Given the description of an element on the screen output the (x, y) to click on. 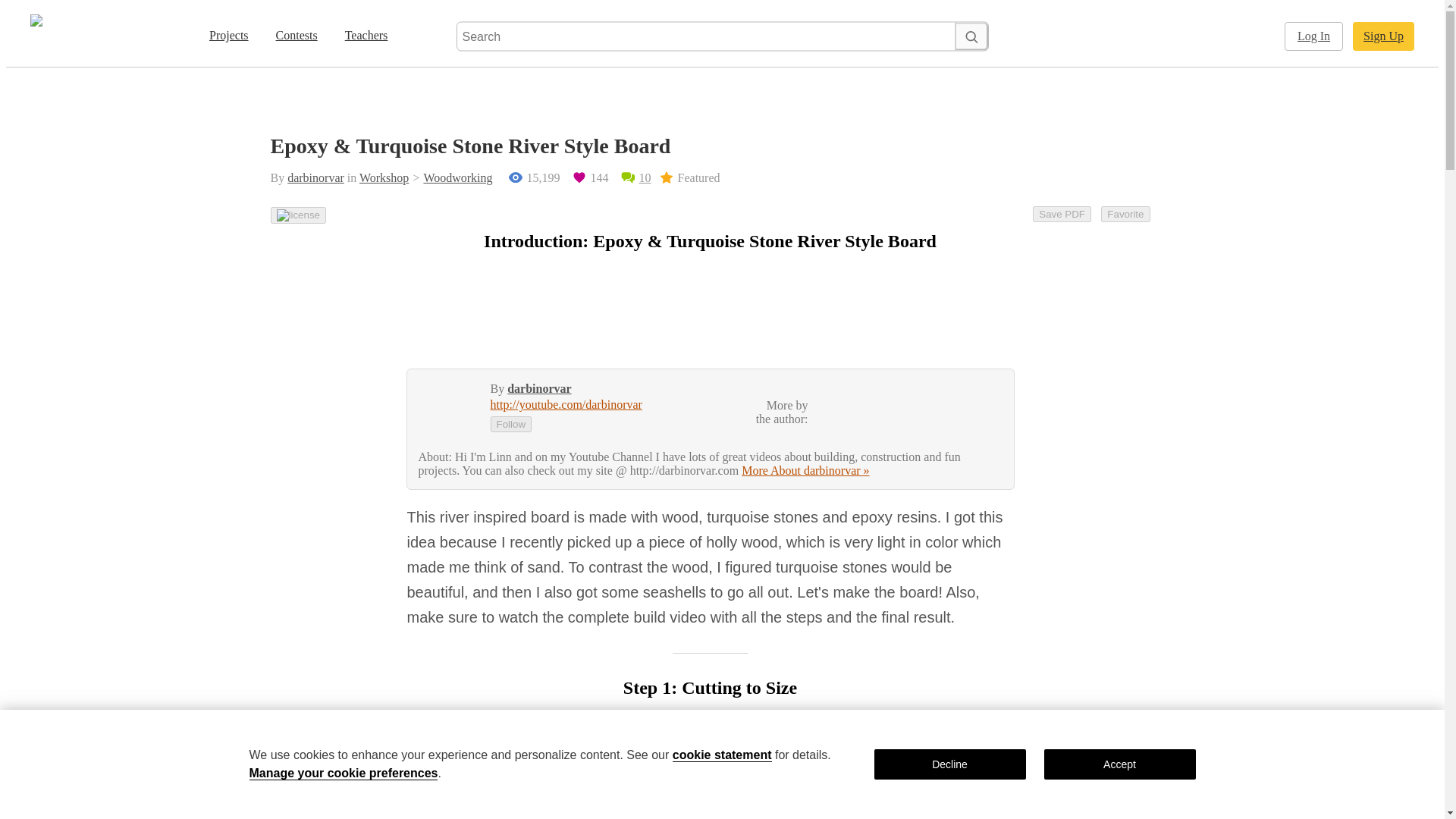
Favorite (1125, 213)
10 (635, 178)
Log In (1313, 36)
Projects (229, 36)
darbinorvar (314, 177)
Teachers (366, 36)
Follow (510, 424)
darbinorvar (538, 388)
Sign Up (1382, 36)
Woodworking (450, 177)
Save PDF (1061, 213)
Workshop (384, 177)
Contests (295, 36)
